Given the description of an element on the screen output the (x, y) to click on. 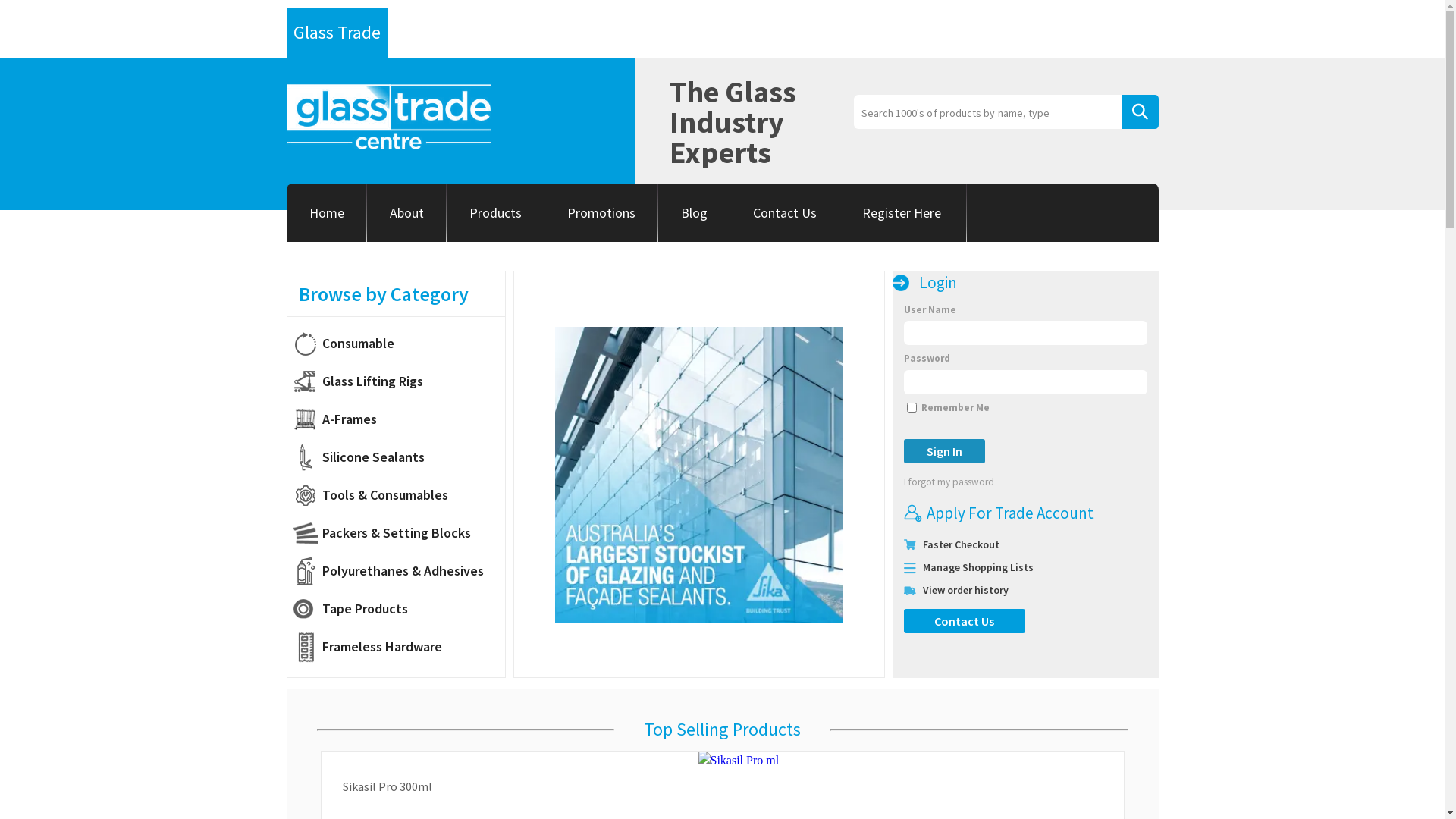
Contact Us Element type: text (783, 212)
Blog Element type: text (694, 212)
Polyurethanes & Adhesives Element type: text (398, 570)
Silicone Sealants Element type: text (398, 457)
Tape Products Element type: text (398, 608)
Register Here Element type: text (902, 212)
Glass Trade Element type: text (337, 32)
Products Element type: text (494, 212)
Glass Lifting Rigs Element type: text (398, 381)
Tools & Consumables Element type: text (398, 495)
Sign In Element type: text (944, 451)
Consumable Element type: text (398, 343)
A-Frames Element type: text (398, 419)
View order history Element type: text (964, 589)
Faster Checkout Element type: text (960, 544)
Contact Us Element type: text (964, 620)
I forgot my password Element type: text (971, 481)
Manage Shopping Lists Element type: text (977, 567)
Frameless Hardware Element type: text (398, 646)
Home Element type: text (326, 212)
Promotions Element type: text (601, 212)
Packers & Setting Blocks Element type: text (398, 533)
About Element type: text (406, 212)
